Given the description of an element on the screen output the (x, y) to click on. 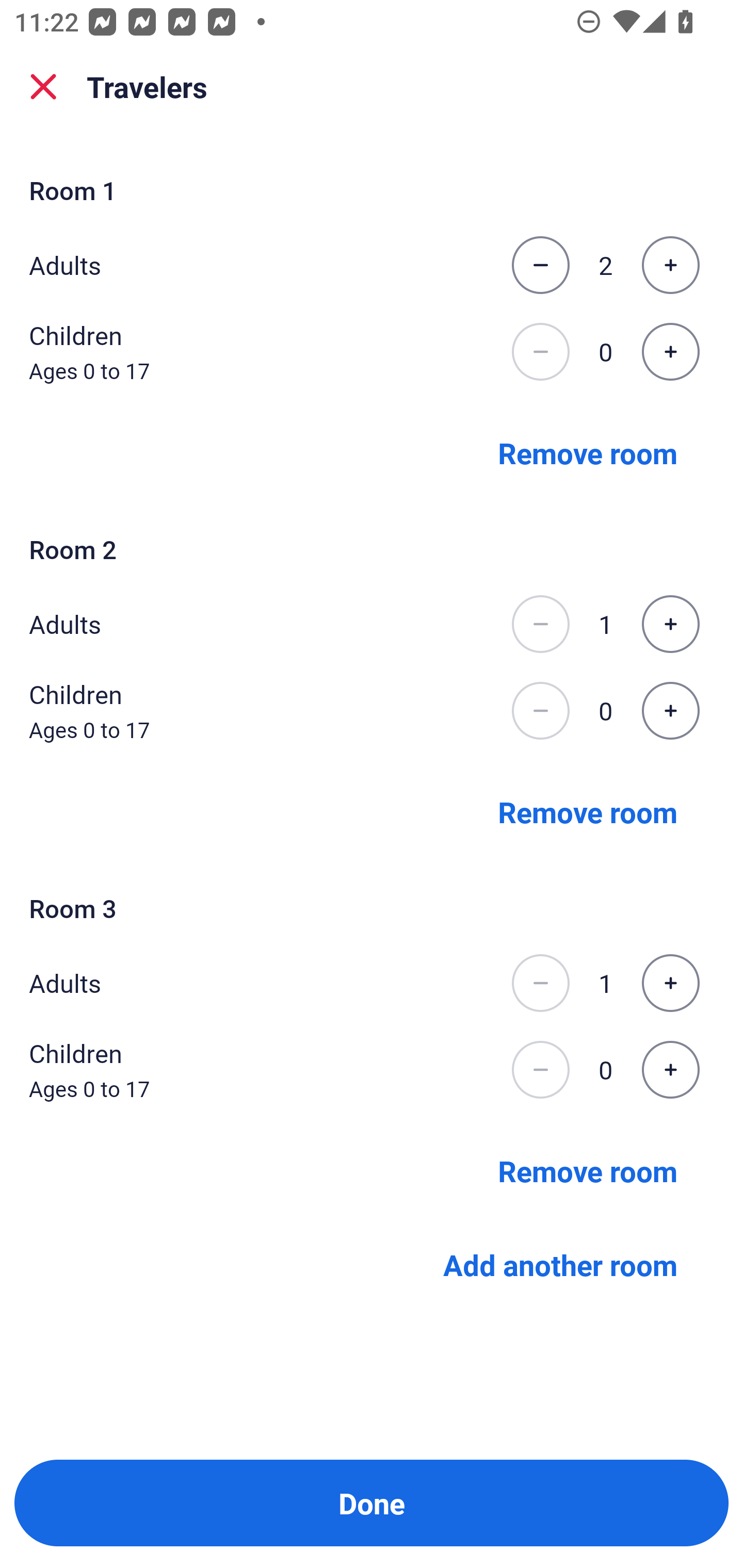
close (43, 86)
Decrease the number of adults (540, 264)
Increase the number of adults (670, 264)
Decrease the number of children (540, 351)
Increase the number of children (670, 351)
Remove room (588, 452)
Decrease the number of adults (540, 623)
Increase the number of adults (670, 623)
Decrease the number of children (540, 710)
Increase the number of children (670, 710)
Remove room (588, 811)
Decrease the number of adults (540, 983)
Increase the number of adults (670, 983)
Decrease the number of children (540, 1070)
Increase the number of children (670, 1070)
Remove room (588, 1170)
Add another room (560, 1264)
Done (371, 1502)
